Given the description of an element on the screen output the (x, y) to click on. 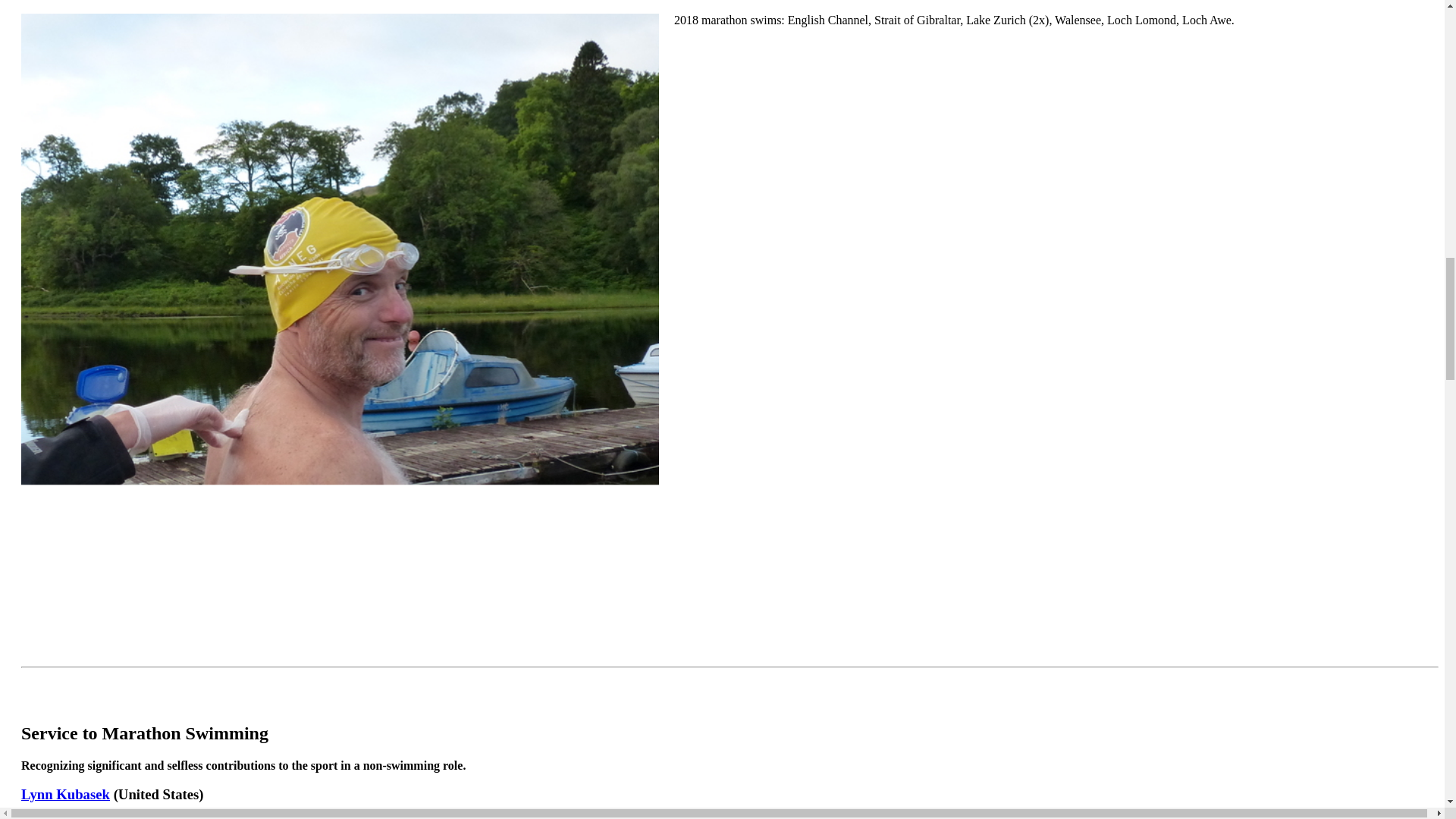
Lynn Kubasek (65, 794)
